Given the description of an element on the screen output the (x, y) to click on. 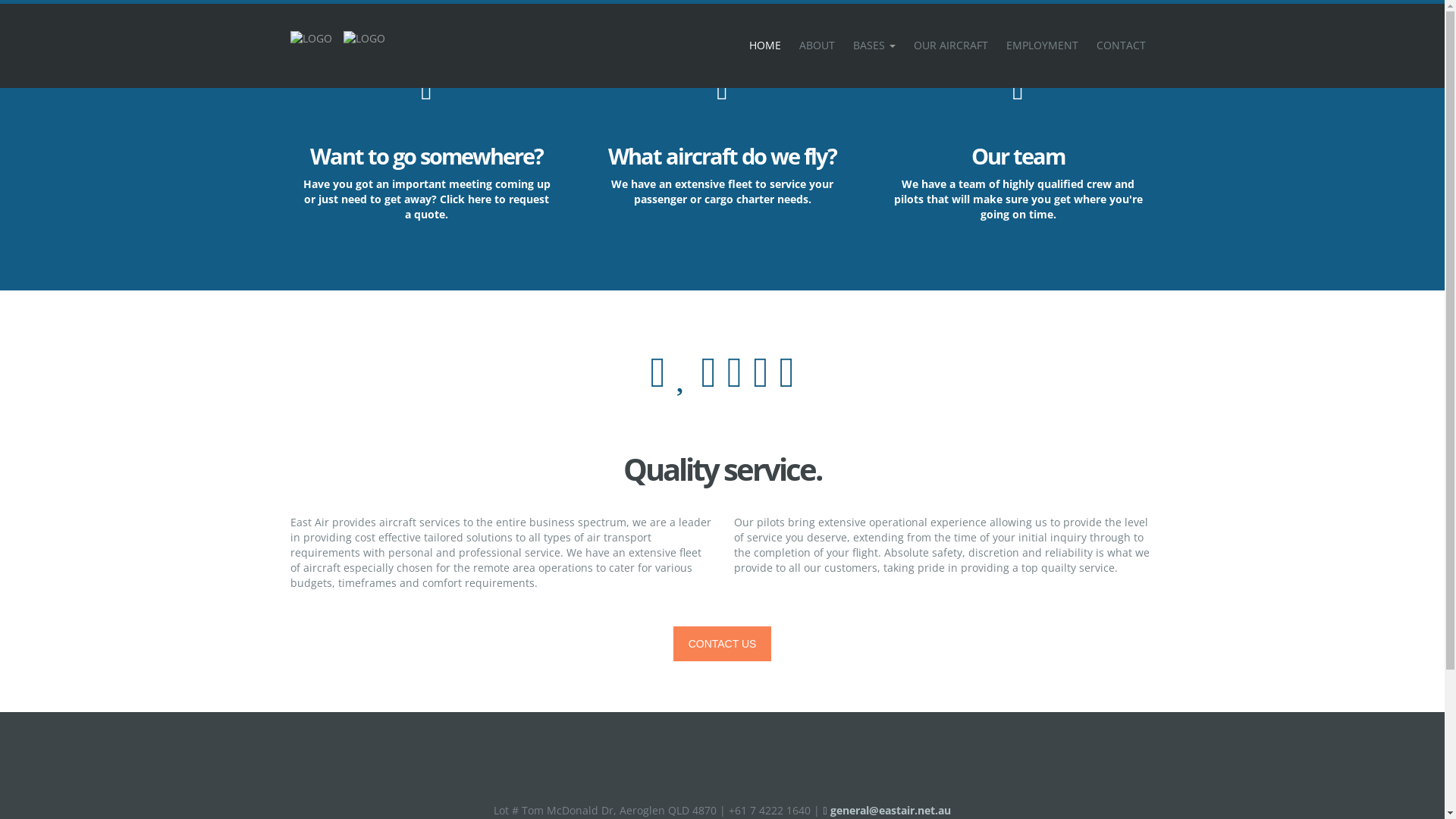
HOME Element type: text (765, 45)
EMPLOYMENT Element type: text (1041, 45)
OUR AIRCRAFT Element type: text (949, 45)
CONTACT Element type: text (1120, 45)
CONTACT US Element type: text (722, 643)
ABOUT Element type: text (817, 45)
general@eastair.net.au Element type: text (886, 810)
BASES Element type: text (873, 45)
